Given the description of an element on the screen output the (x, y) to click on. 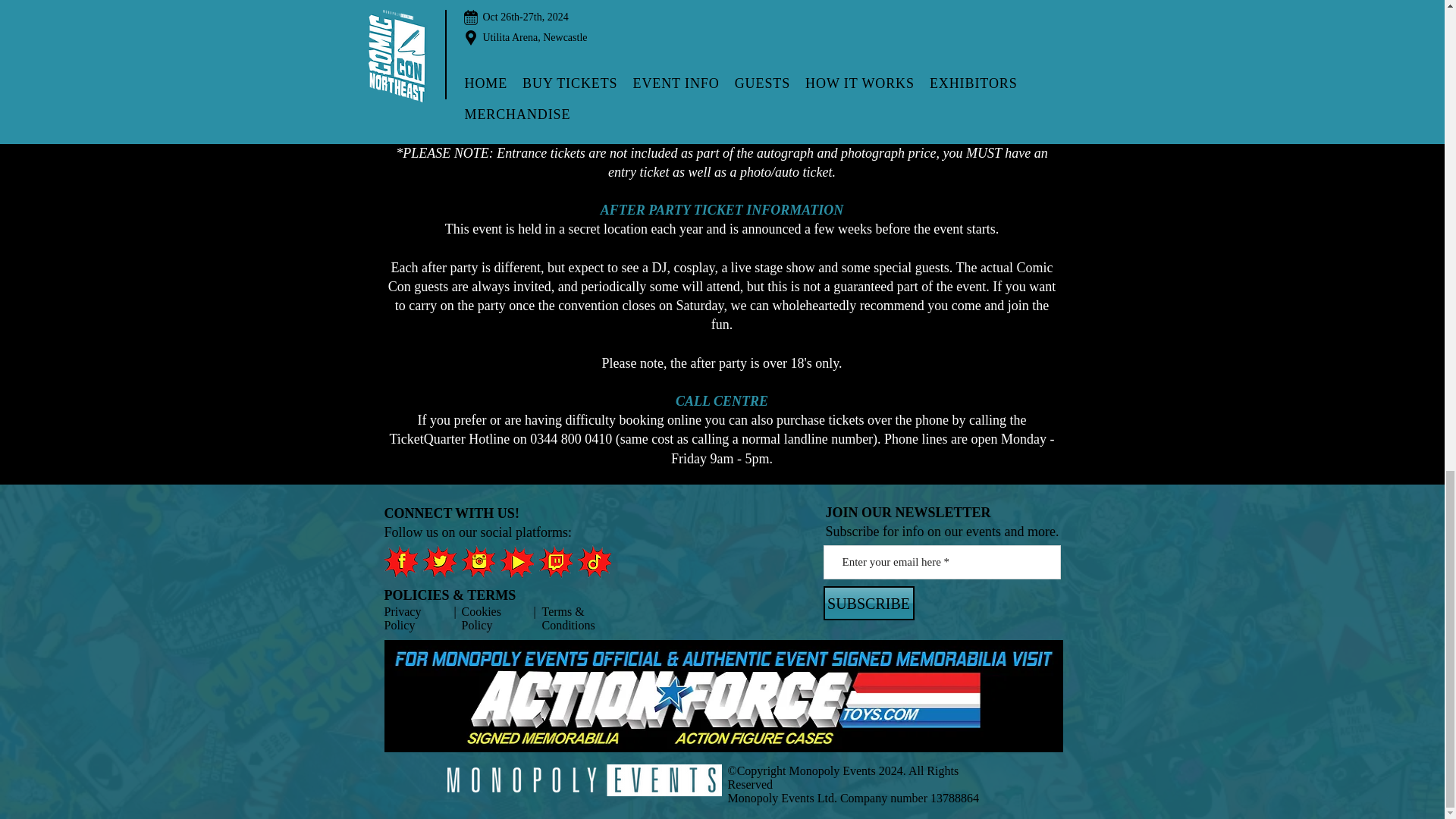
Privacy Policy (402, 618)
SUBSCRIBE (869, 602)
Monopoly Events (832, 770)
Cookies Policy (480, 618)
